Given the description of an element on the screen output the (x, y) to click on. 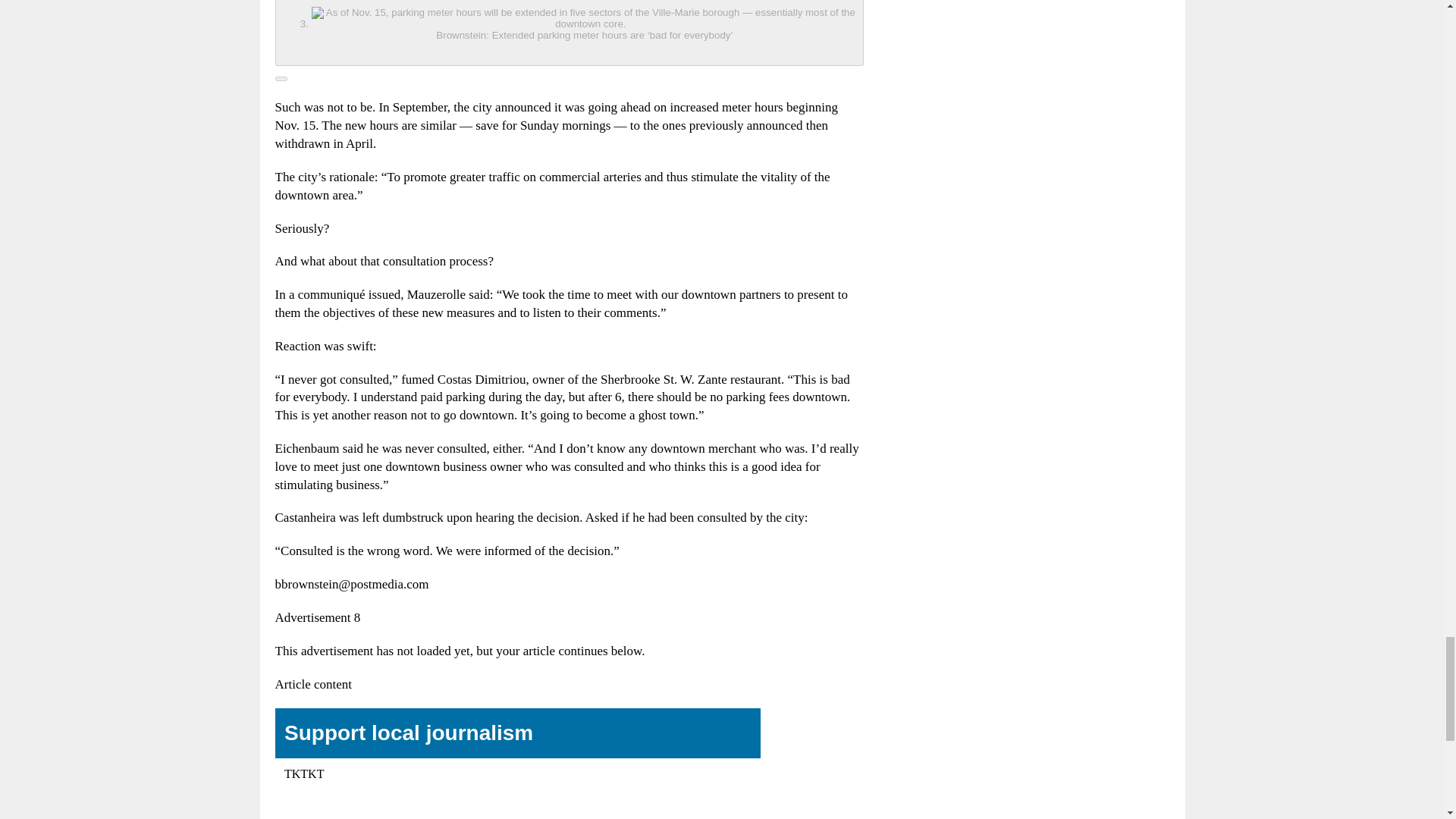
next (280, 78)
Interactive or visual content (517, 763)
previous (569, 33)
